Given the description of an element on the screen output the (x, y) to click on. 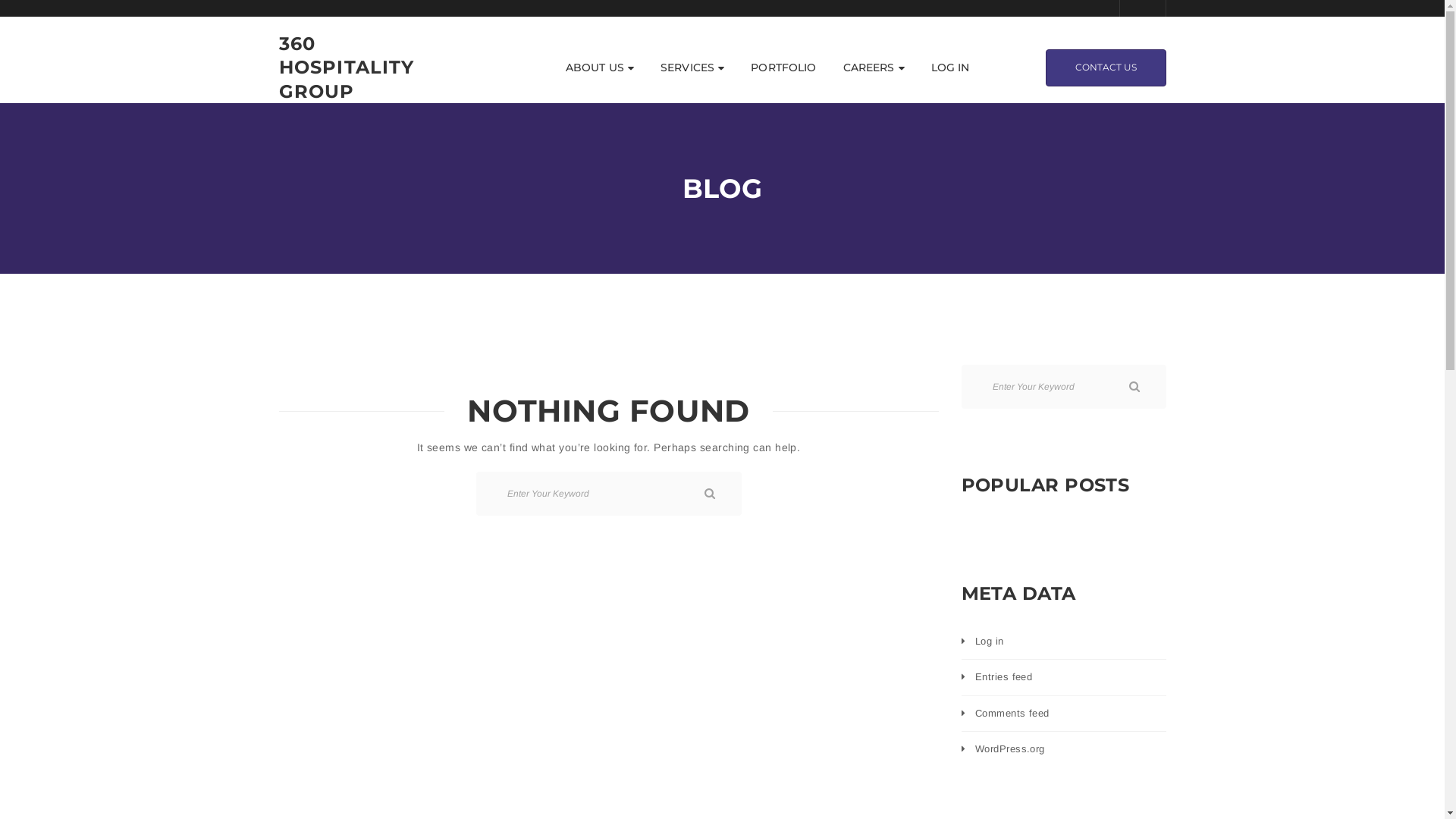
CAREERS Element type: text (873, 67)
Log in Element type: text (989, 640)
CONTACT US Element type: text (1104, 66)
Comments feed Element type: text (1012, 712)
LOG IN Element type: text (950, 67)
PORTFOLIO Element type: text (782, 67)
WordPress.org Element type: text (1009, 748)
Entries feed Element type: text (1003, 676)
360 HOSPITALITY GROUP Element type: text (354, 67)
ABOUT US Element type: text (599, 67)
SERVICES Element type: text (692, 67)
